Given the description of an element on the screen output the (x, y) to click on. 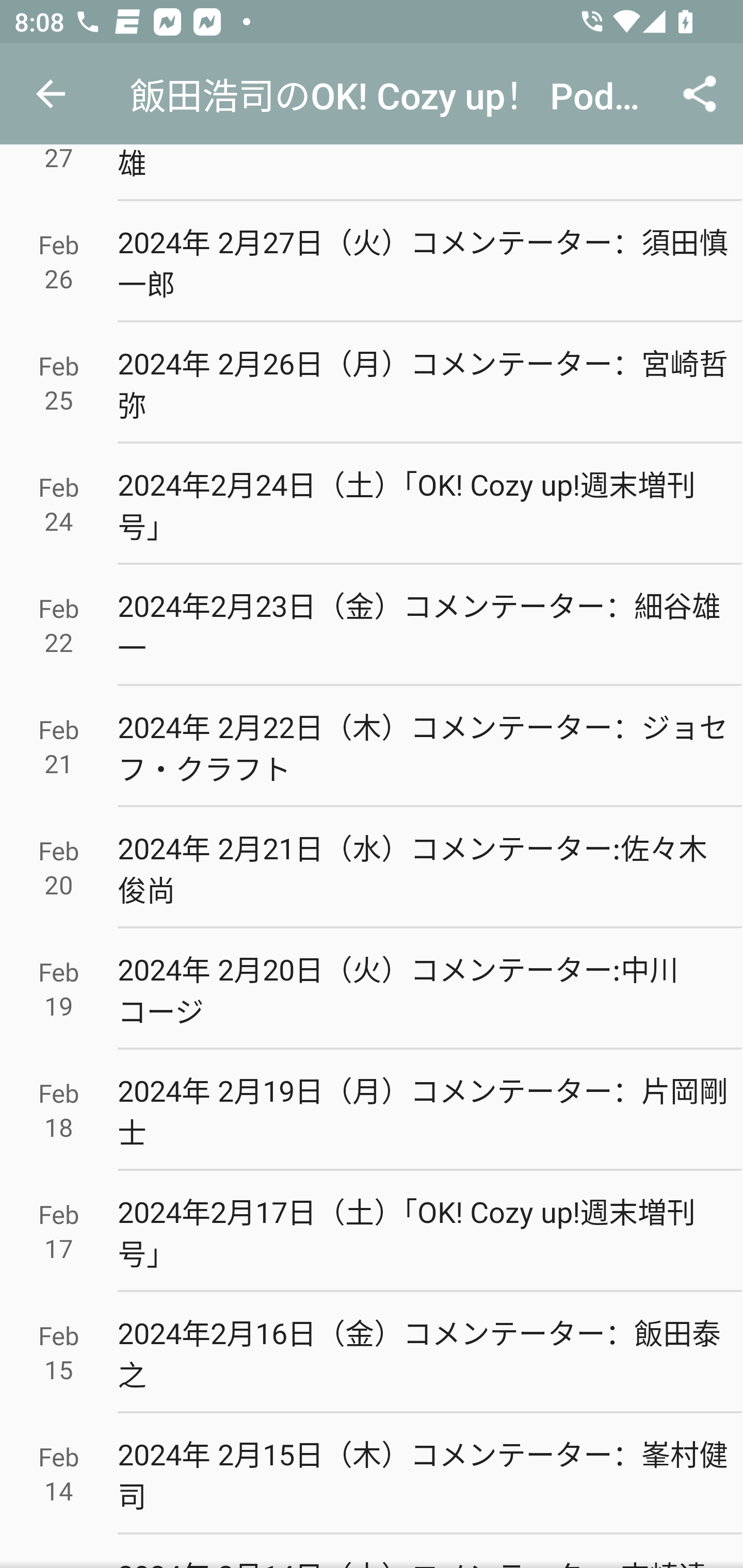
Navigate up (50, 93)
Share... (699, 93)
Feb 26 2024年 2月27日（火）コメンテーター：須田慎一郎 (371, 261)
Feb 25 2024年 2月26日（月）コメンテーター：宮崎哲弥 (371, 383)
Feb 24 2024年2月24日（土）「OK! Cozy up!週末増刊号」 (371, 503)
Feb 22 2024年2月23日（金）コメンテーター：細谷雄一 (371, 625)
Feb 21 2024年 2月22日（木）コメンテーター：ジョセフ・クラフト (371, 746)
Feb 20 2024年 2月21日（水）コメンテーター:佐々木俊尚 (371, 867)
Feb 19 2024年 2月20日（火）コメンテーター:中川コージ (371, 988)
Feb 18 2024年 2月19日（月）コメンテーター：片岡剛士 (371, 1109)
Feb 17 2024年2月17日（土）「OK! Cozy up!週末増刊号」 (371, 1231)
Feb 15 2024年2月16日（金）コメンテーター：飯田泰之 (371, 1352)
Feb 14 2024年 2月15日（木）コメンテーター：峯村健司 (371, 1473)
